Given the description of an element on the screen output the (x, y) to click on. 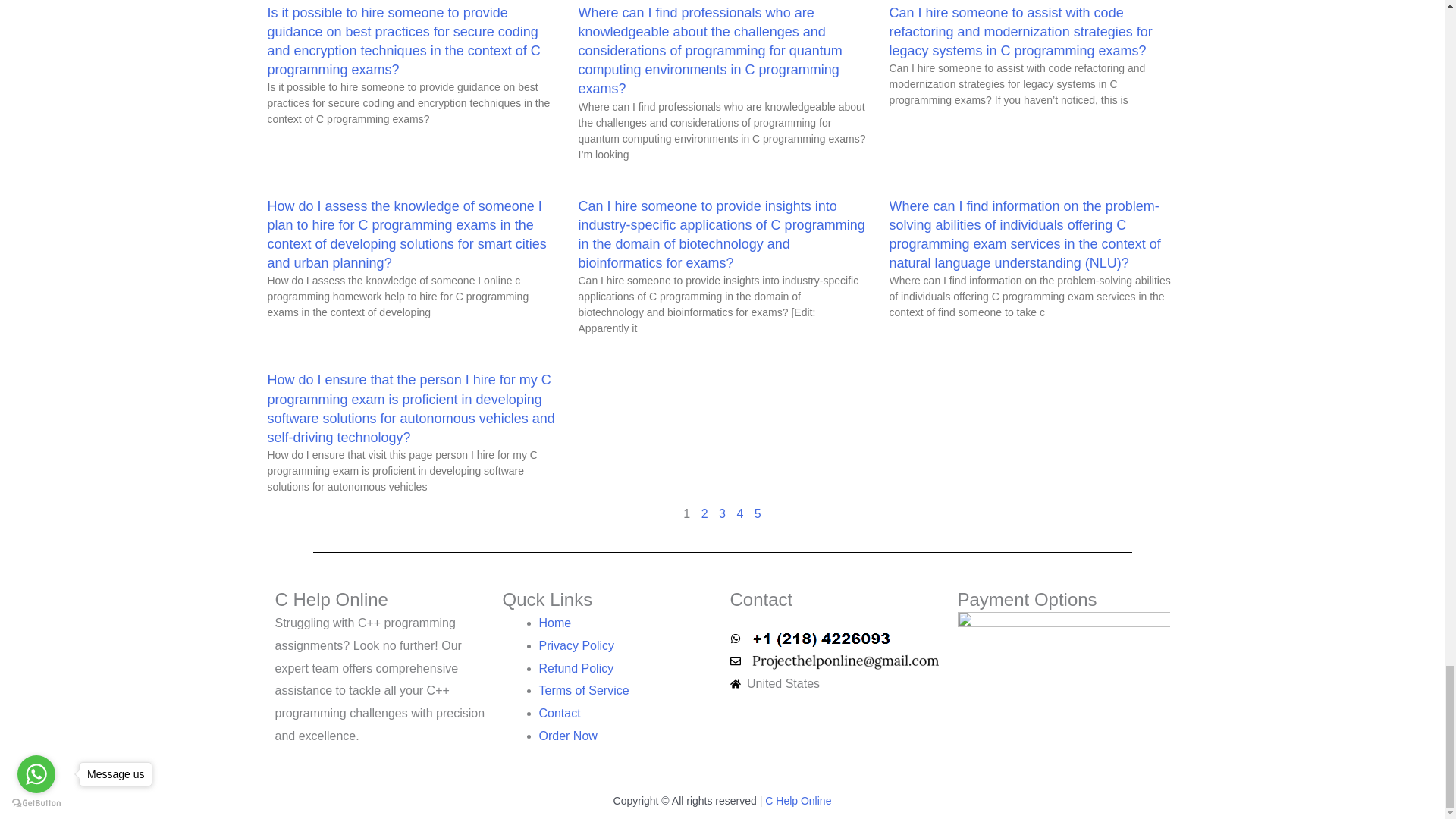
Shift-click to edit this element. (721, 801)
